Given the description of an element on the screen output the (x, y) to click on. 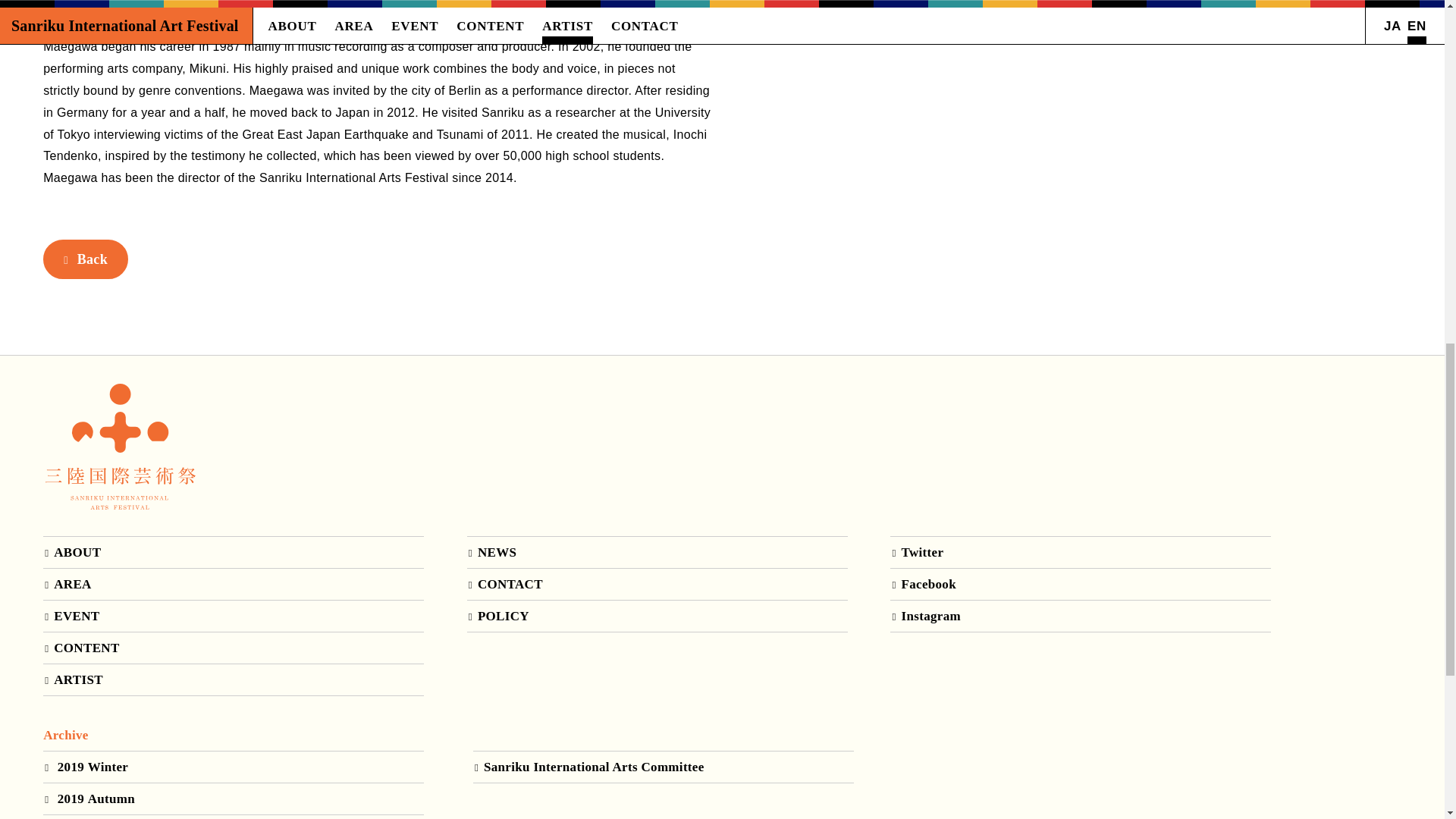
AREA (233, 583)
ARTIST (233, 679)
Instagram (1080, 615)
Sanriku International Arts Committee (663, 766)
CONTENT (233, 647)
Twitter (1080, 552)
Back (85, 259)
NEWS (657, 552)
Facebook (1080, 583)
POLICY (657, 615)
2019 Autumn (233, 798)
ABOUT (233, 552)
CONTACT (657, 583)
2019 Winter (233, 766)
